Given the description of an element on the screen output the (x, y) to click on. 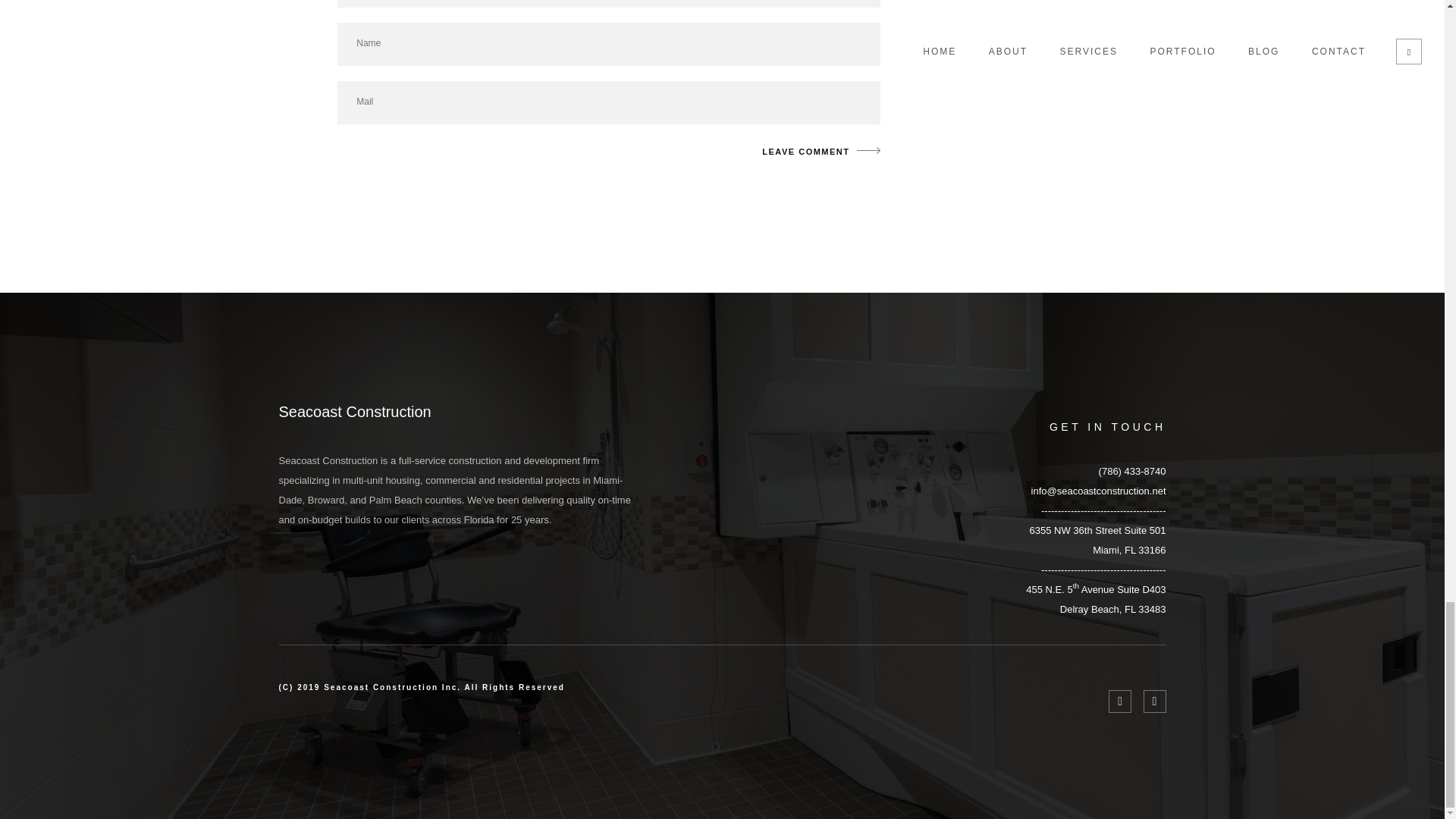
LEAVE COMMENT (816, 151)
LEAVE COMMENT (1097, 540)
Seacoast Construction (816, 151)
